Given the description of an element on the screen output the (x, y) to click on. 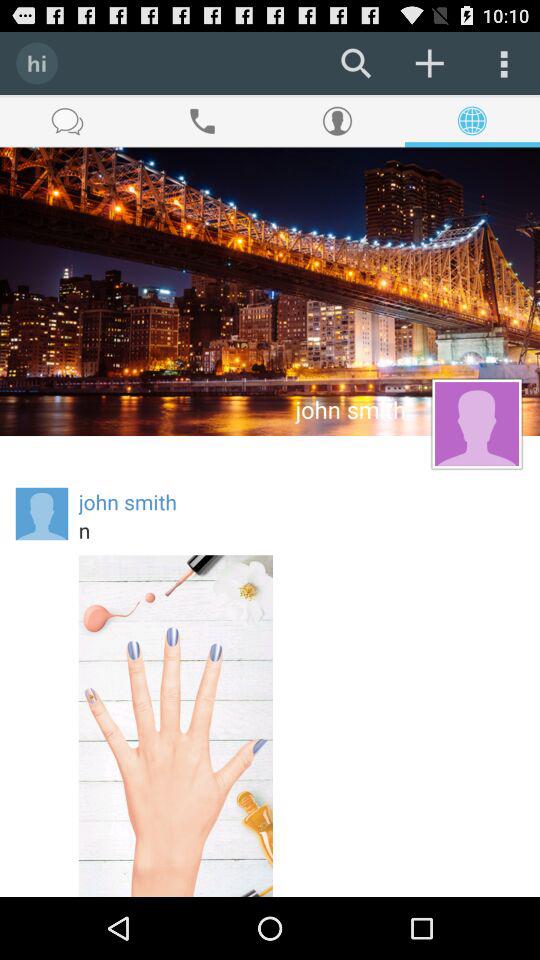
select the icon to the left of the john smith (41, 513)
